Given the description of an element on the screen output the (x, y) to click on. 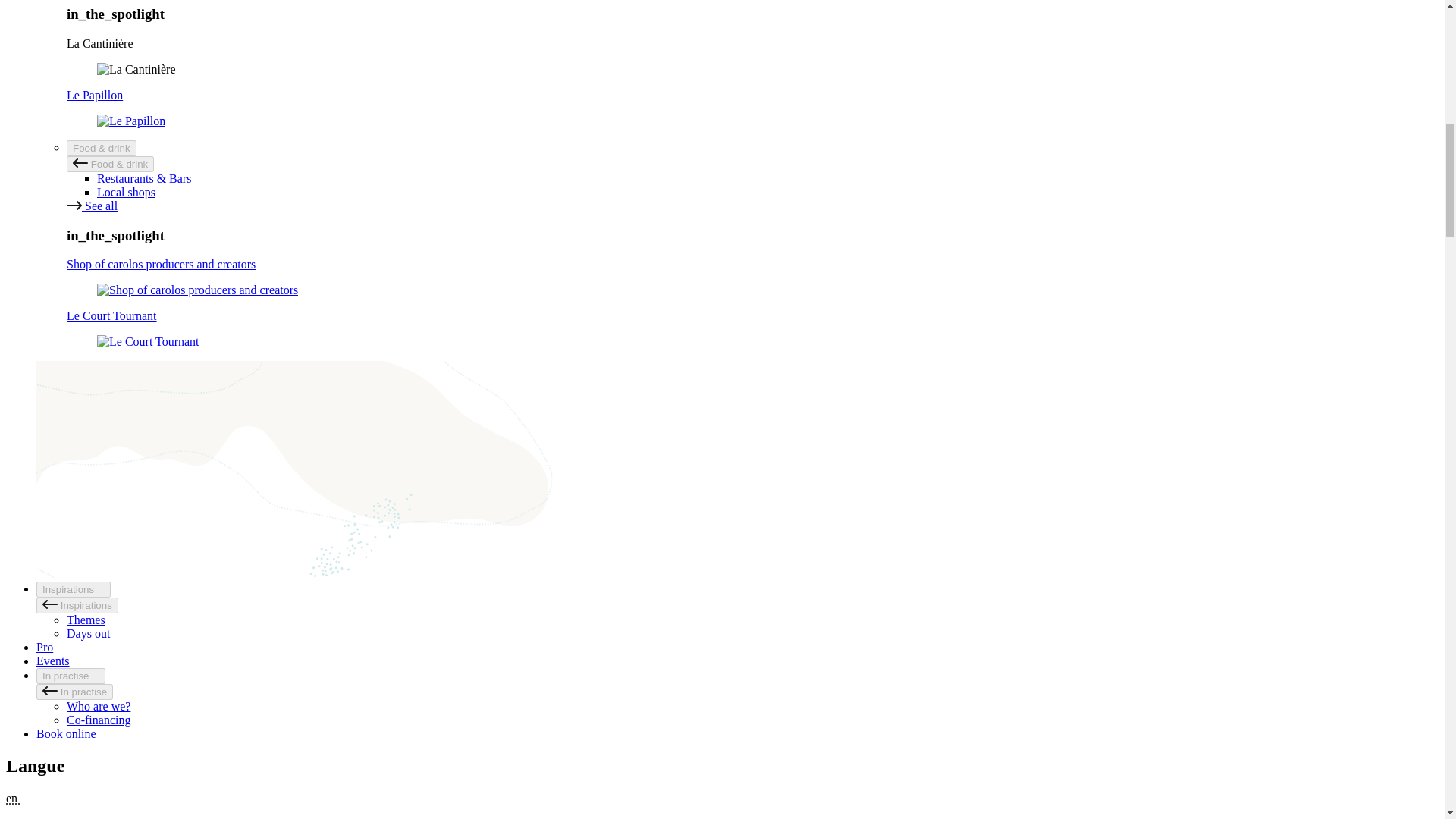
English (16, 797)
Local shops (126, 192)
See all (91, 205)
